Given the description of an element on the screen output the (x, y) to click on. 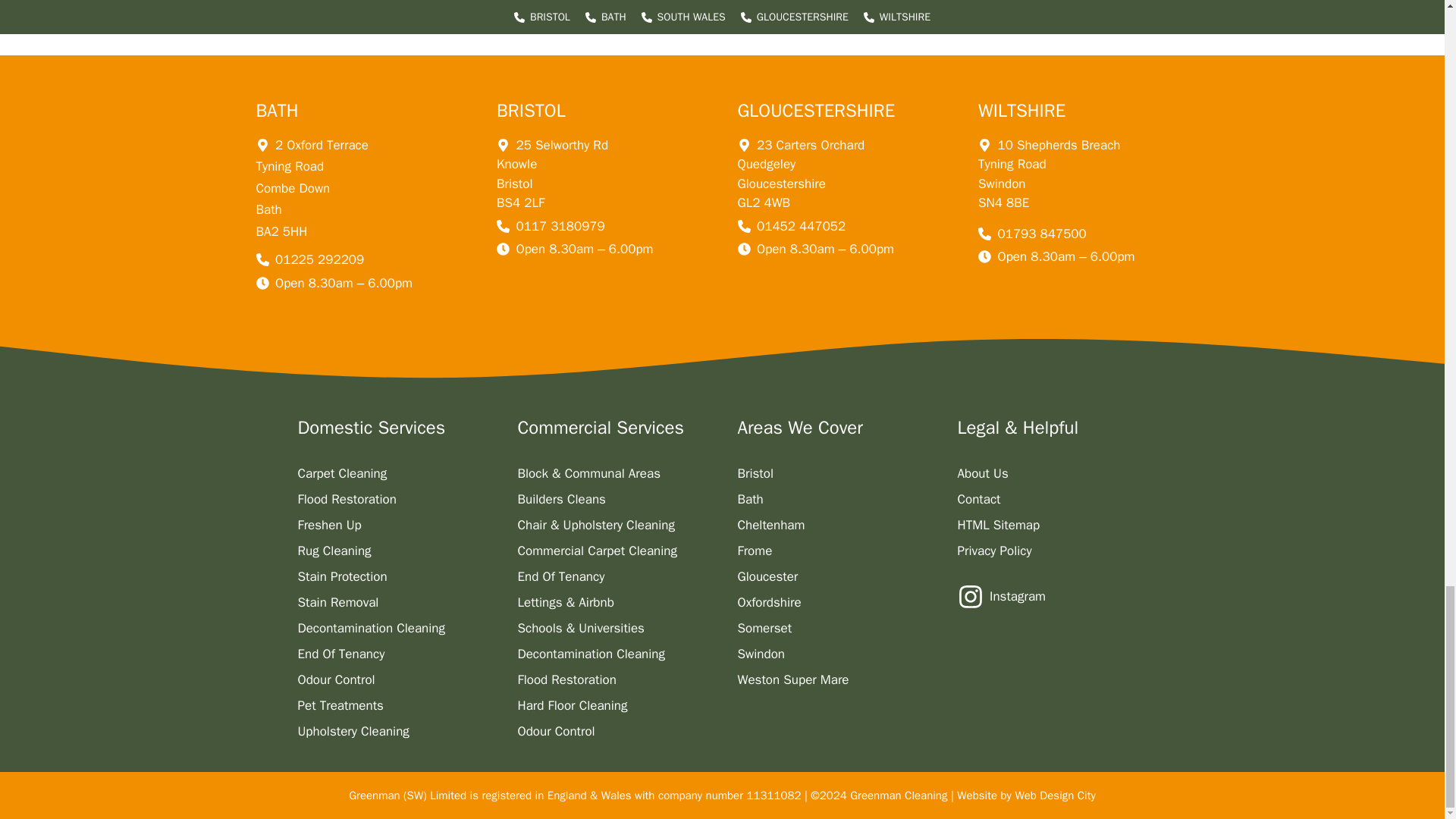
Post Comment (354, 8)
